Given the description of an element on the screen output the (x, y) to click on. 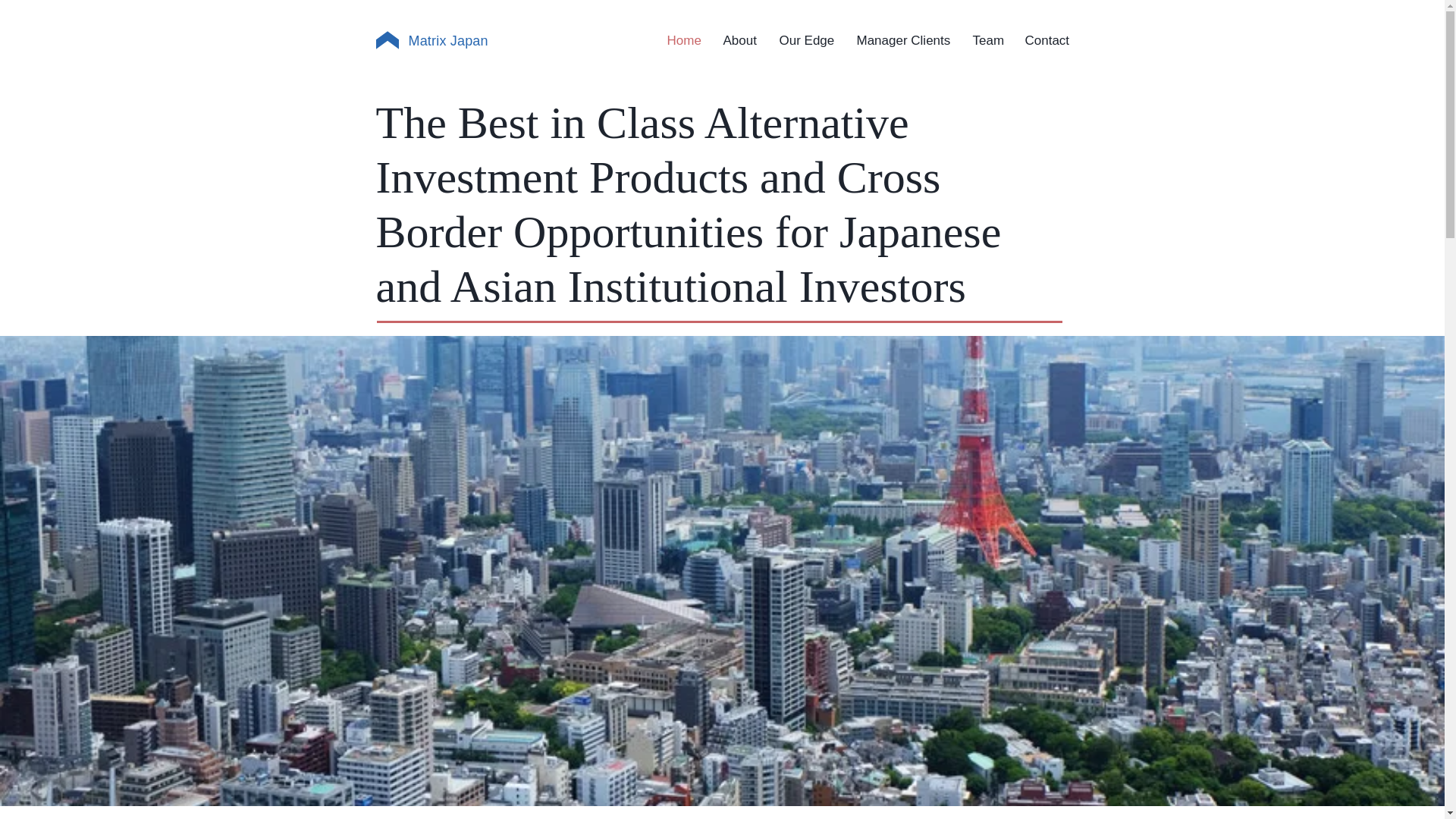
Team (986, 40)
Manager Clients (902, 40)
Our Edge (805, 40)
Matrix Japan (447, 40)
About (739, 40)
Home (683, 40)
Contact (1046, 40)
